Given the description of an element on the screen output the (x, y) to click on. 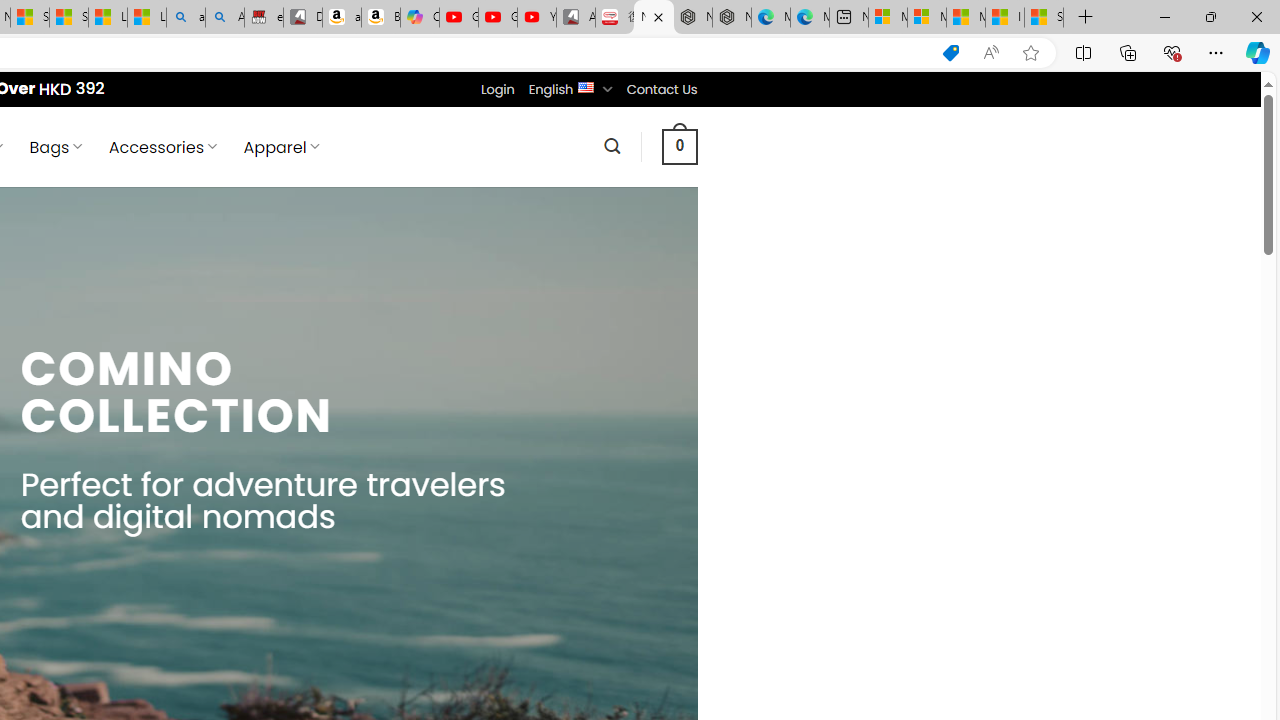
Login (497, 89)
Gloom - YouTube (497, 17)
Contact Us (661, 89)
